Given the description of an element on the screen output the (x, y) to click on. 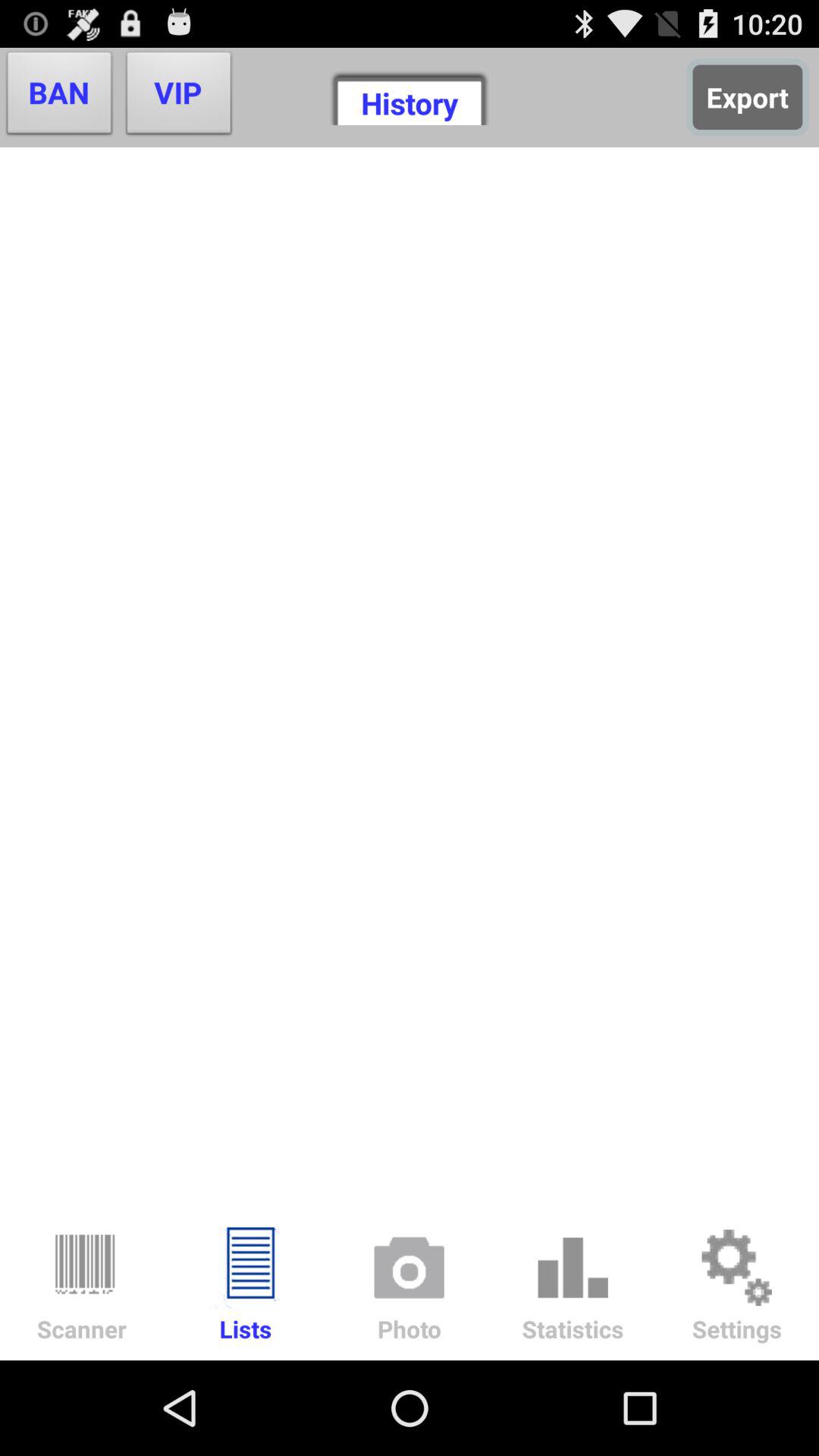
turn on button to the right of the ban button (178, 97)
